Given the description of an element on the screen output the (x, y) to click on. 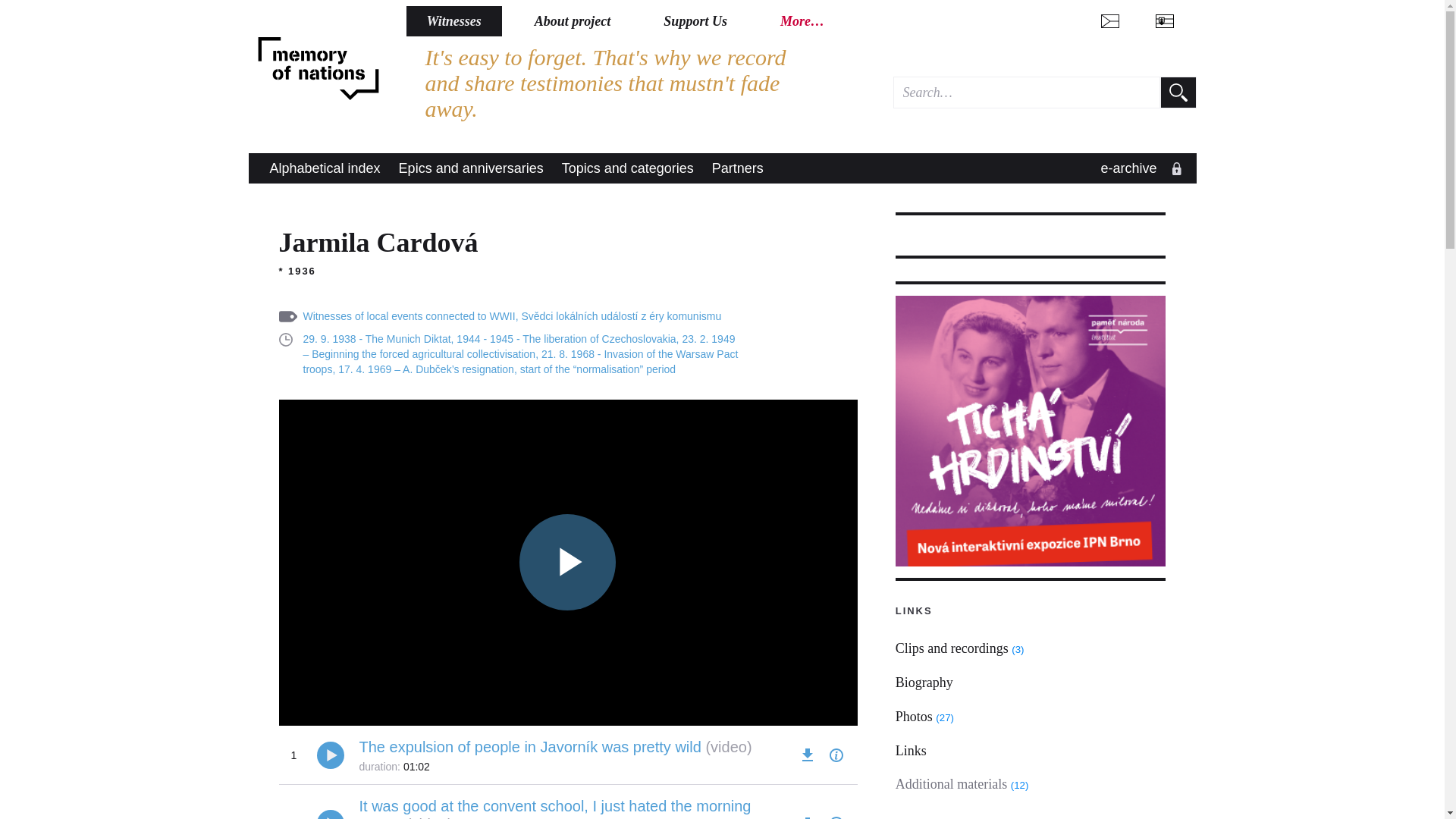
About project (572, 20)
1944 - 1945 - The liberation of Czechoslovakia (566, 338)
29. 9. 1938 - The Munich Diktat (376, 338)
e-archive (1138, 168)
Download file (807, 754)
Witnesses of local events connected to WWII (408, 316)
Download file (807, 816)
Home (318, 69)
Play Video (567, 562)
Topics and categories (628, 168)
